Given the description of an element on the screen output the (x, y) to click on. 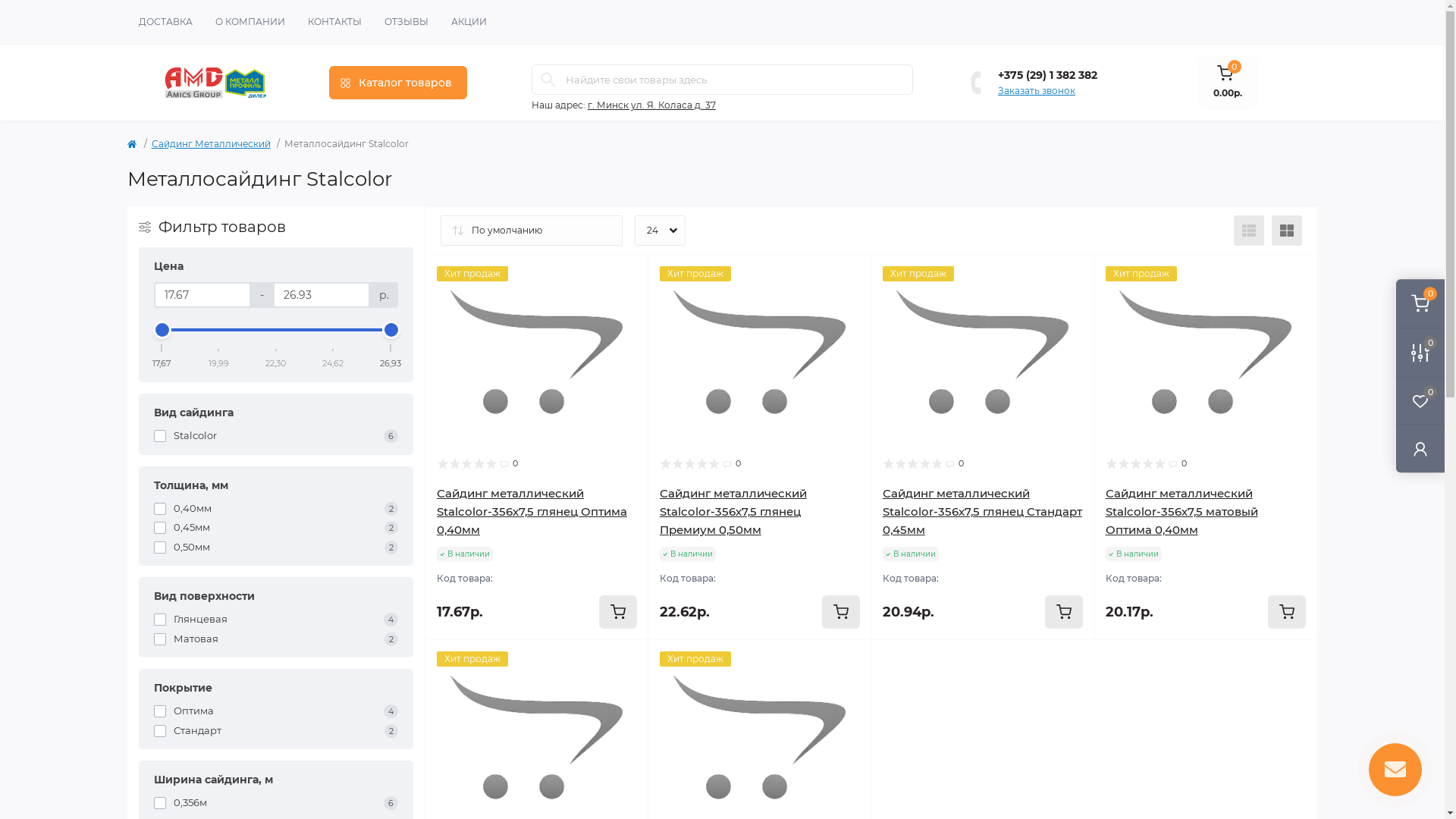
0 Element type: text (1420, 303)
0 Element type: text (1420, 351)
0 Element type: text (1420, 399)
Stalcolor
6 Element type: text (275, 435)
+375 (29) 1 382 382 Element type: text (1047, 73)
